Given the description of an element on the screen output the (x, y) to click on. 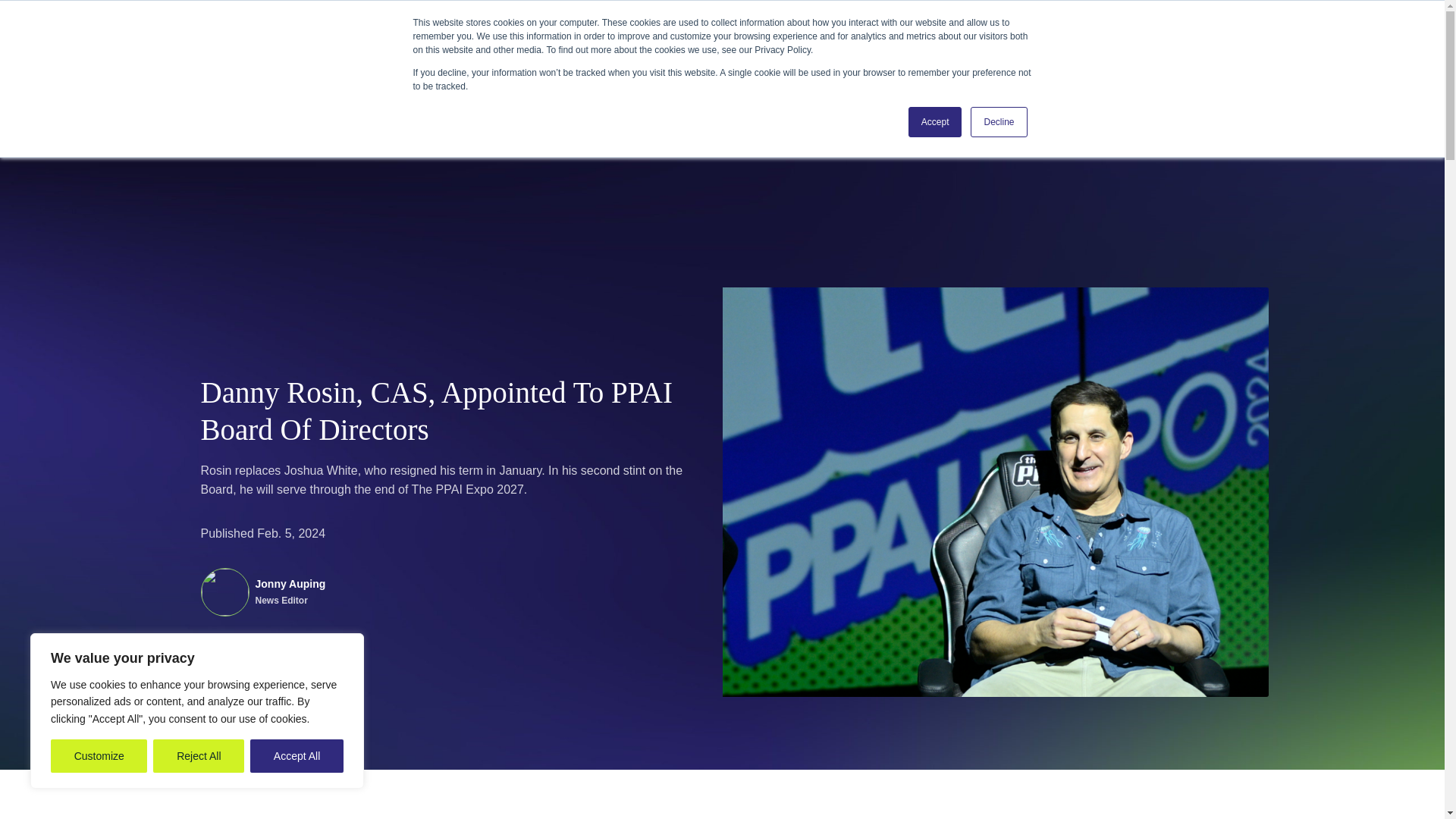
Reject All (198, 756)
MEMBERSHIP (480, 25)
SOLUTIONS CENTER (293, 25)
Customize (98, 756)
PPAI EXPO (647, 25)
EDUCATION (567, 25)
Decline (998, 122)
PPAI MEDIA (395, 25)
Accept All (296, 756)
Accept (935, 122)
